Given the description of an element on the screen output the (x, y) to click on. 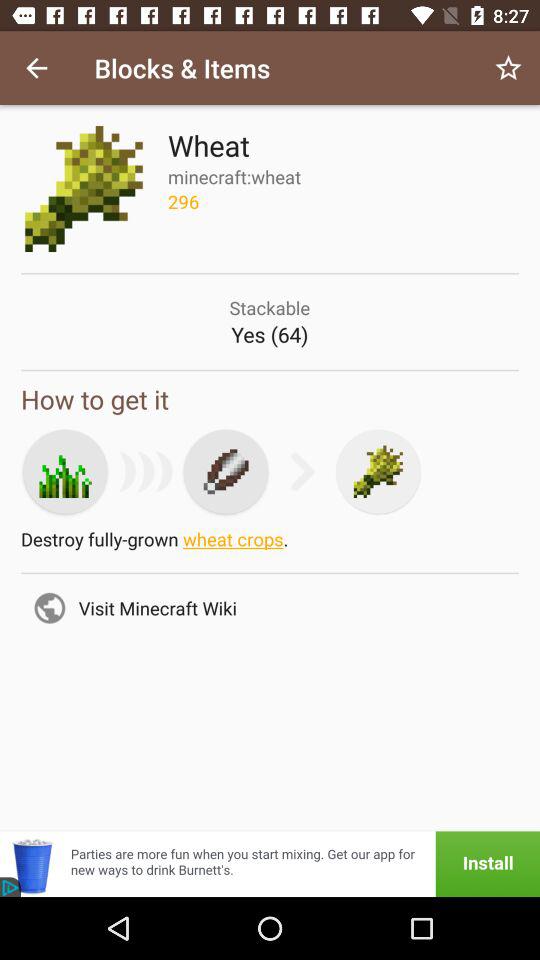
click on advertisement (270, 864)
